Given the description of an element on the screen output the (x, y) to click on. 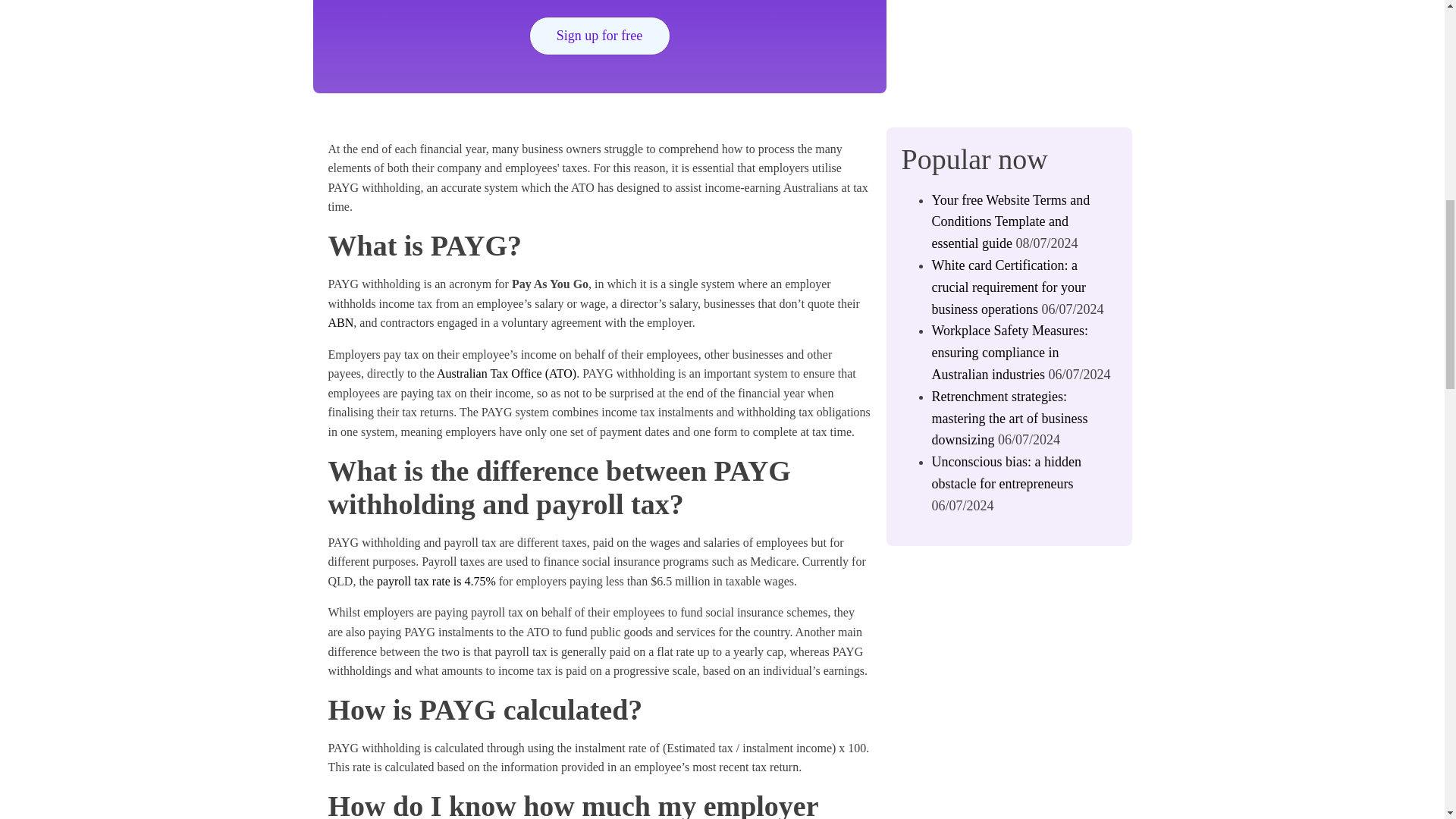
ABN (340, 322)
Unconscious bias: a hidden obstacle for entrepreneurs (1005, 472)
Sign up for free (599, 35)
